Given the description of an element on the screen output the (x, y) to click on. 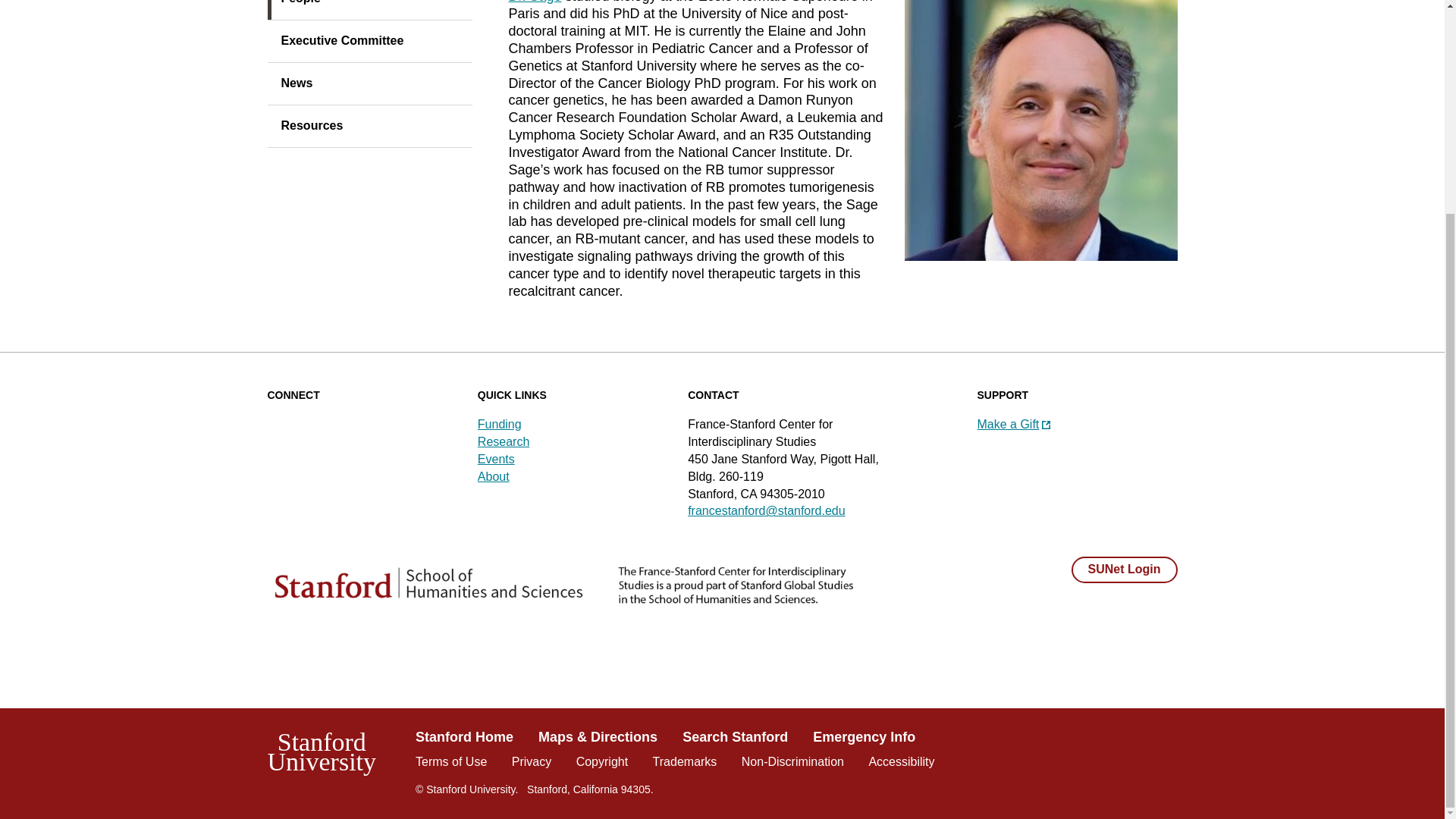
Make a Gift (1012, 423)
Report web accessibility issues (900, 761)
Dr. Sage (534, 2)
Executive Committee (368, 41)
Ownership and use of Stanford trademarks and images (684, 761)
Non-discrimination policy (792, 761)
Resources (368, 126)
Terms of use for sites (450, 761)
People (368, 10)
Report alleged copyright infringement (601, 761)
Privacy and cookie policy (531, 761)
News (368, 84)
